Given the description of an element on the screen output the (x, y) to click on. 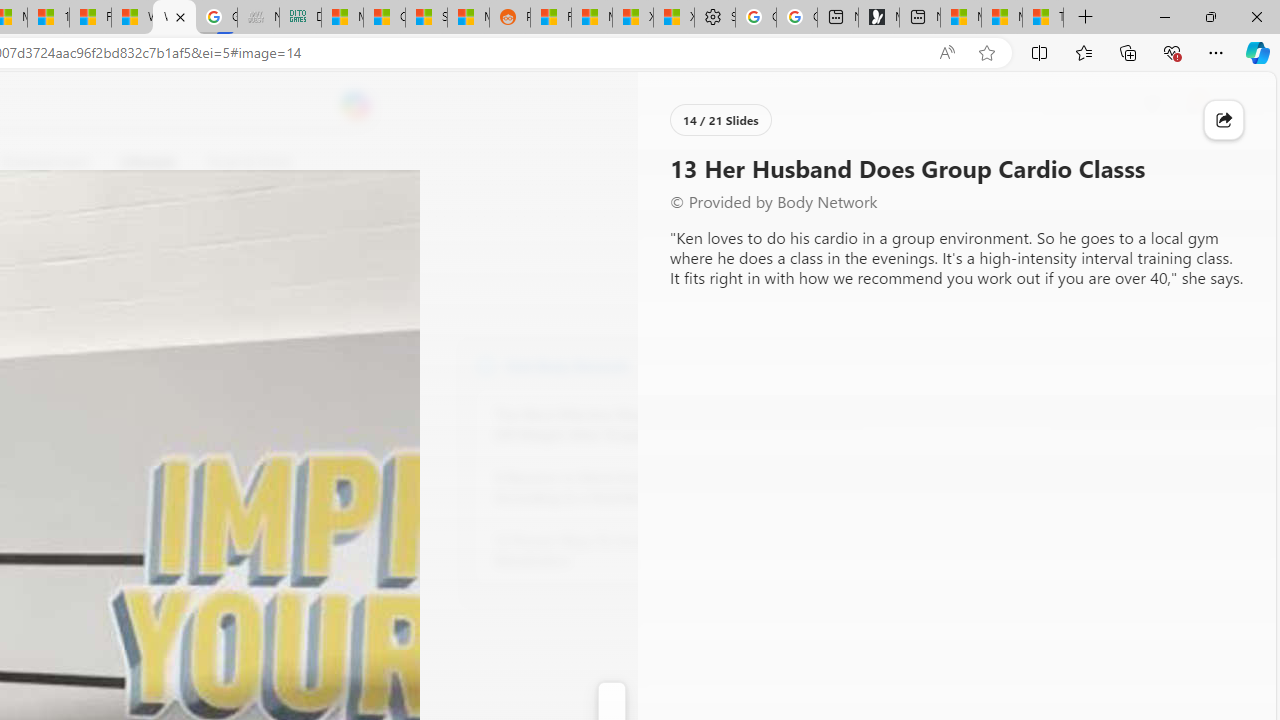
Body Network (486, 364)
Fitness - MSN (90, 17)
Food & Drink (240, 162)
Stocks - MSN (425, 17)
Navy Quest (258, 17)
14 Common Myths Debunked By Scientific Facts (48, 17)
Lifestyle (148, 162)
Open Copilot (356, 105)
